Given the description of an element on the screen output the (x, y) to click on. 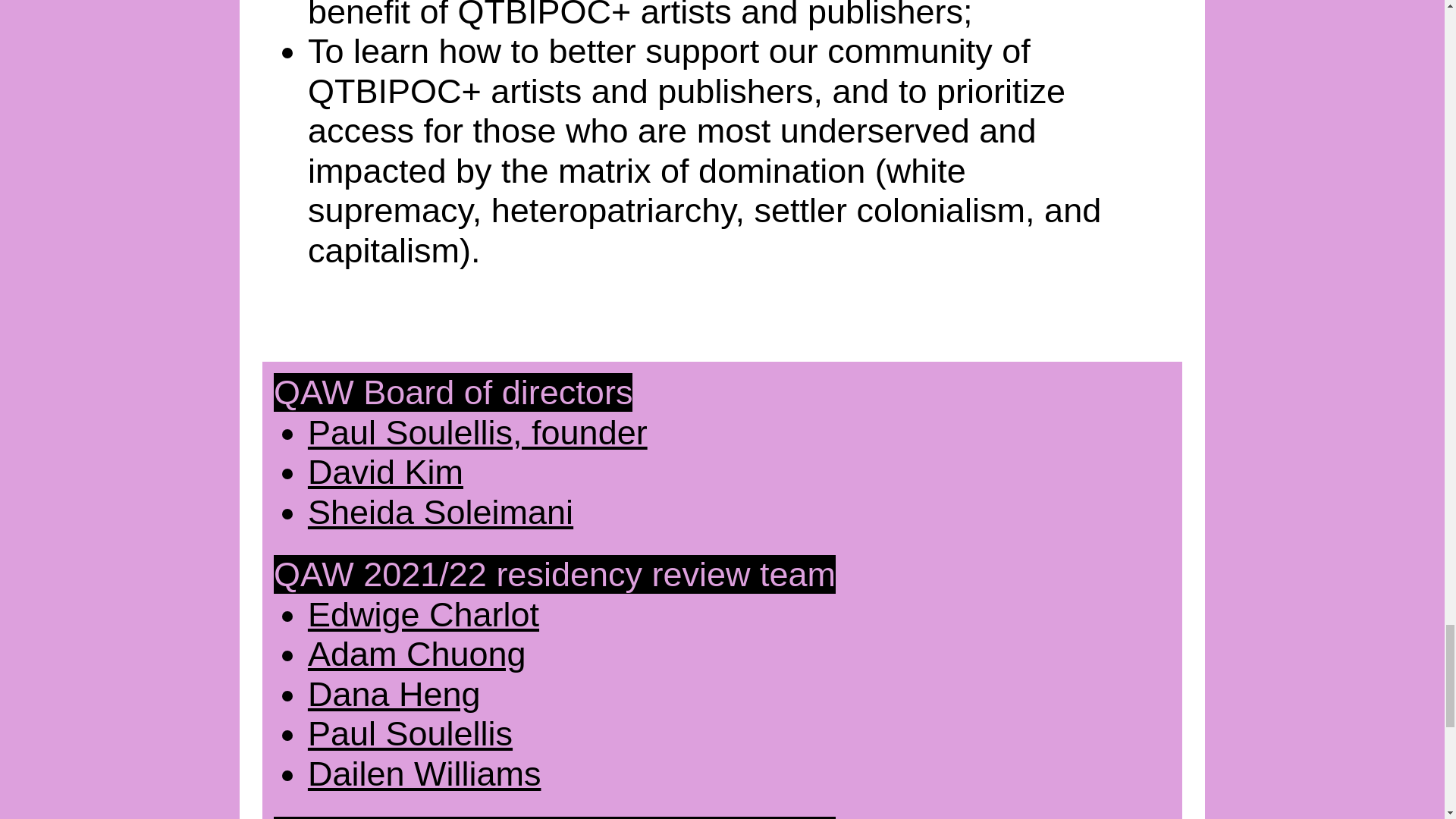
Dailen Williams (424, 773)
Adam Chuong (416, 653)
Paul Soulellis (409, 733)
Paul Soulellis, founder (477, 432)
Edwige Charlot (422, 614)
David Kim (385, 471)
Dana Heng (393, 693)
Sheida Soleimani (440, 512)
